Given the description of an element on the screen output the (x, y) to click on. 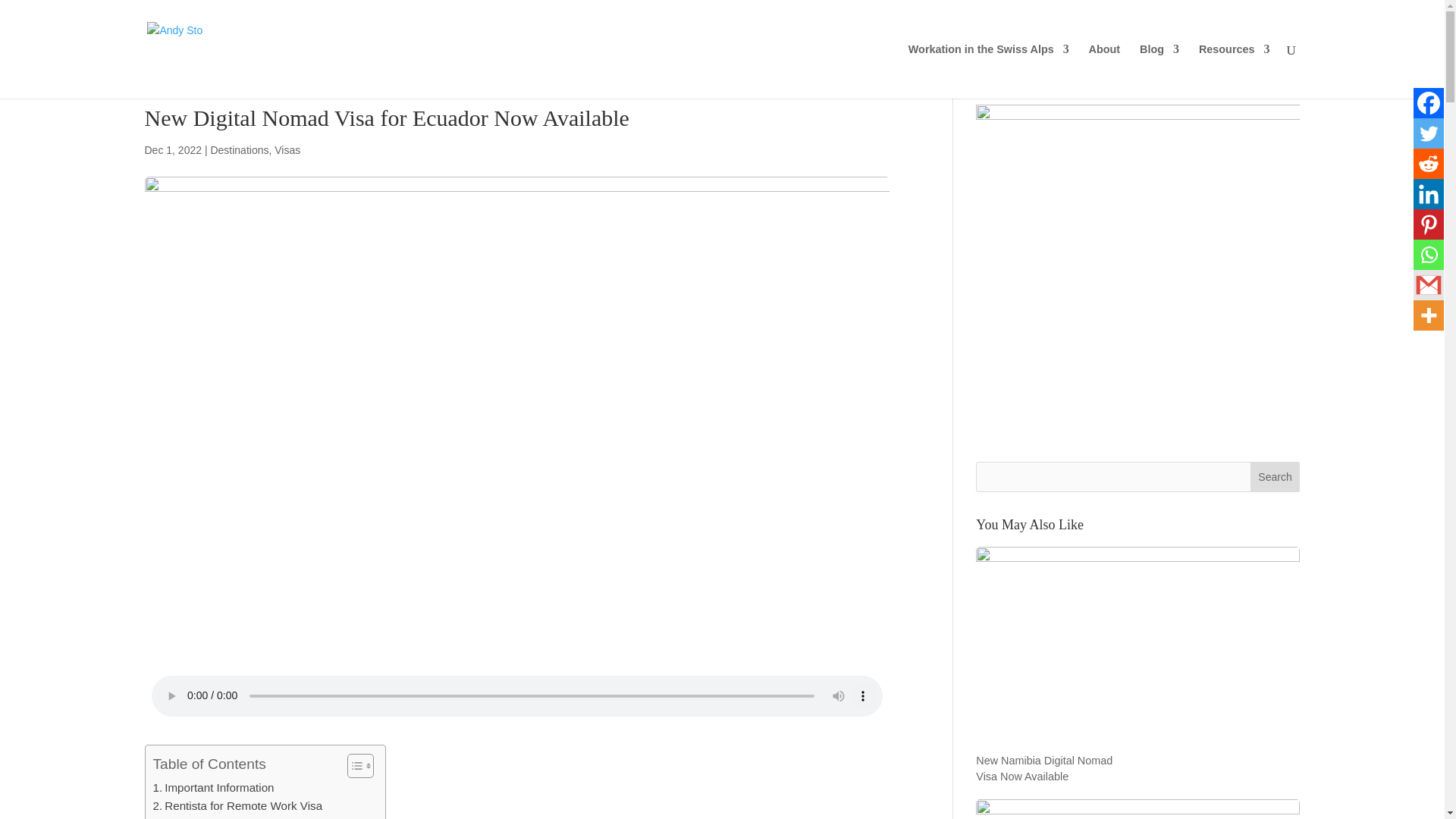
Rentista for Remote Work Visa (237, 805)
Visas (287, 150)
Resources (1233, 71)
Required Documentation (251, 818)
Important Information (213, 787)
Workation in the Swiss Alps (988, 71)
Rentista for Remote Work Visa (237, 805)
Required Documentation (251, 818)
Destinations (238, 150)
Important Information (213, 787)
